Given the description of an element on the screen output the (x, y) to click on. 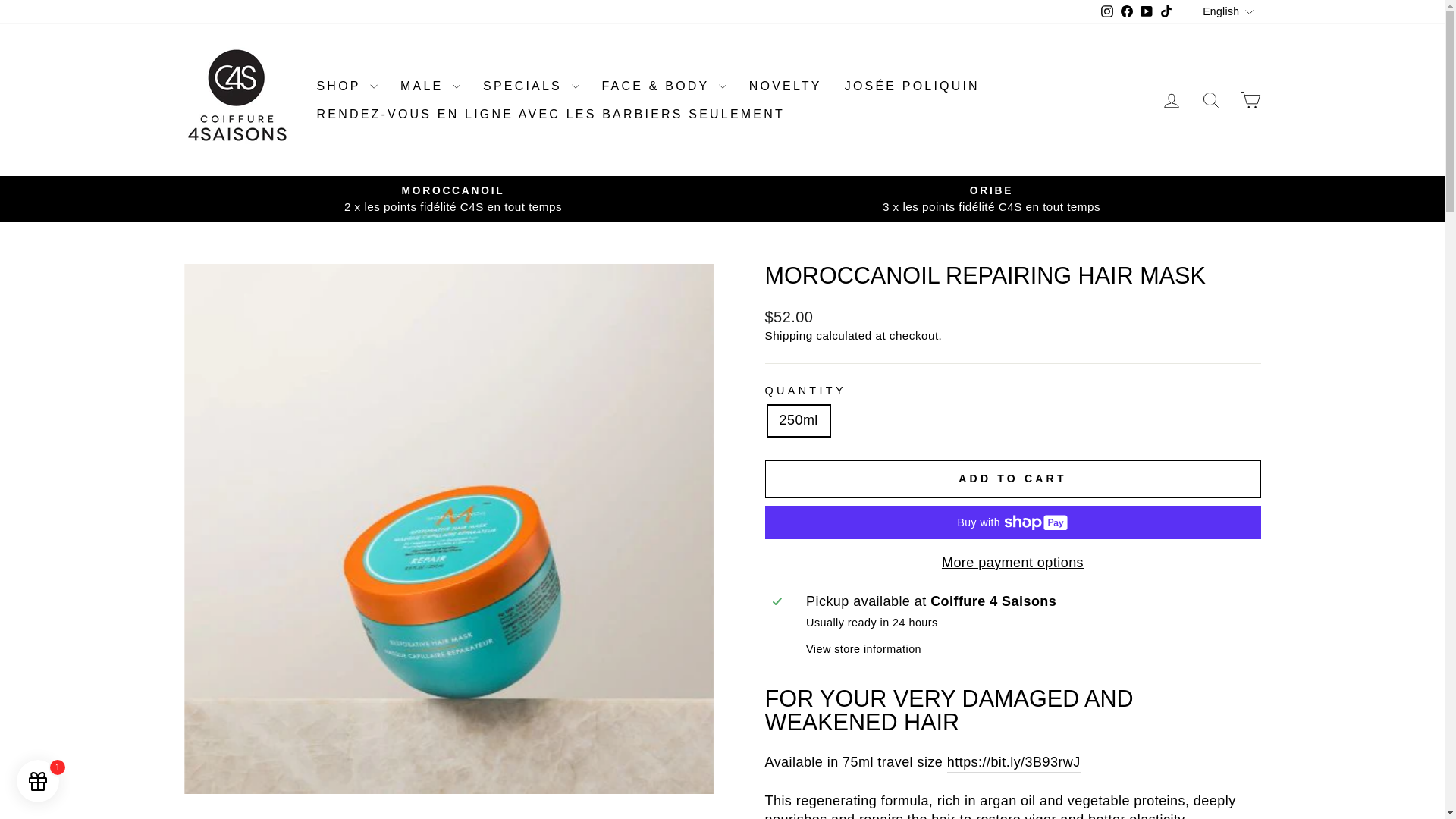
Size 250ml (1013, 762)
instagram (1106, 10)
gb-frame (34, 783)
ACCOUNT (1170, 100)
ICON-SEARCH (1210, 99)
